Given the description of an element on the screen output the (x, y) to click on. 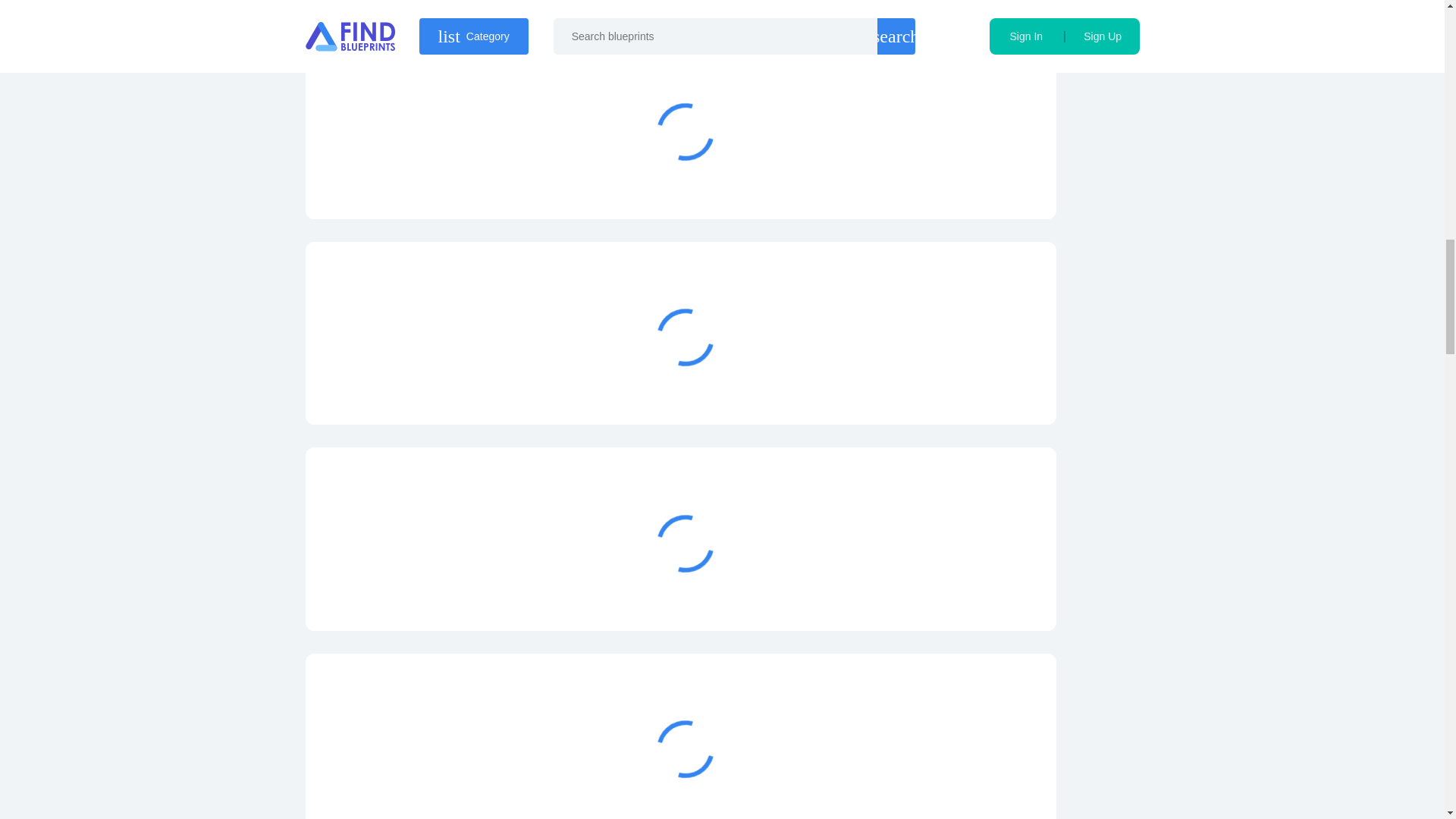
More (962, 388)
More (962, 181)
More (962, 800)
More (962, 594)
